Given the description of an element on the screen output the (x, y) to click on. 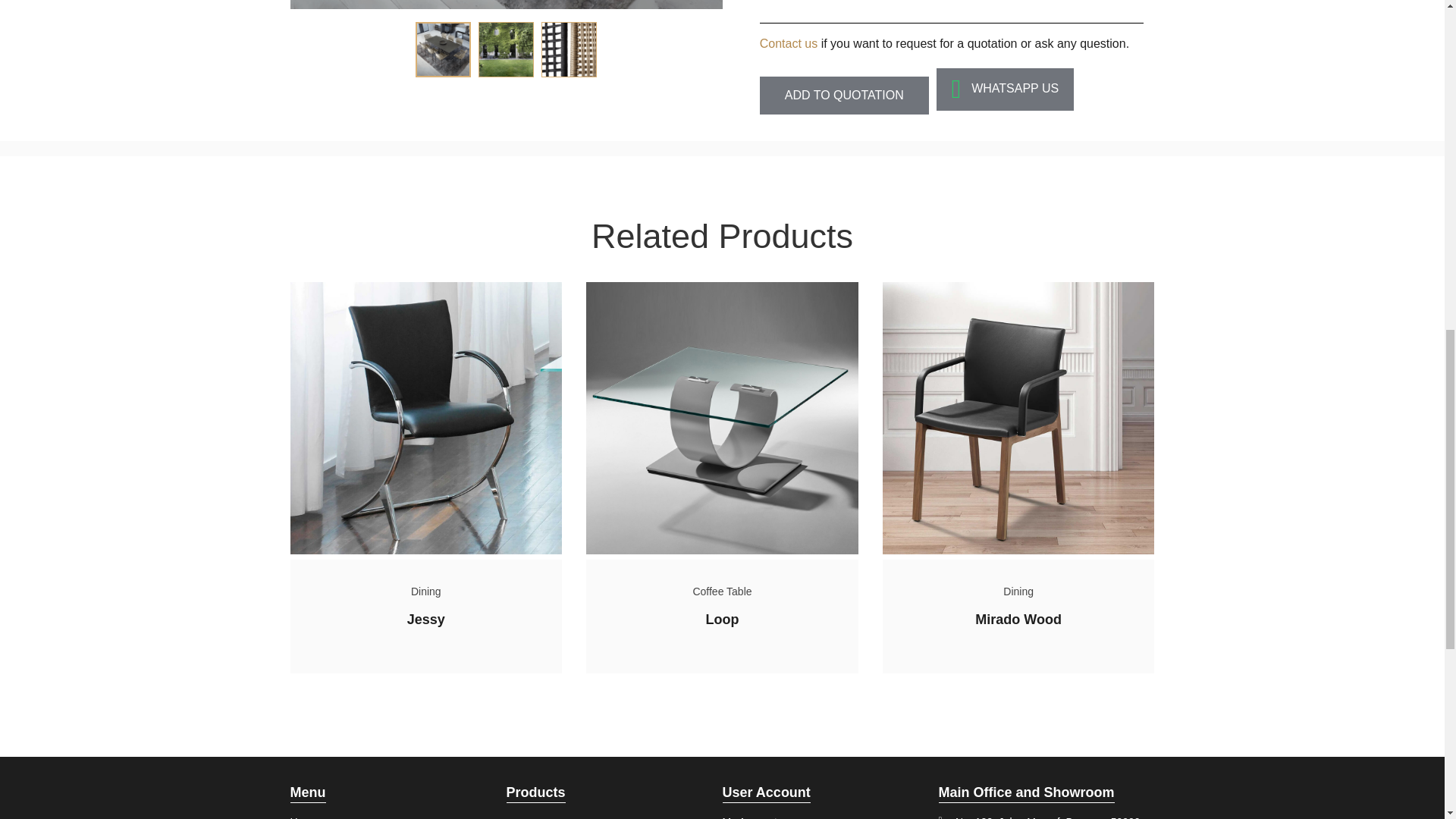
Contact us (788, 42)
Jessy (426, 619)
Dining (1018, 591)
ADD TO QUOTATION (844, 95)
Home (315, 814)
Loop (721, 619)
WHATSAPP US (1005, 88)
Coffee Table (722, 591)
Mirado Wood (1018, 619)
Dining (425, 591)
